Given the description of an element on the screen output the (x, y) to click on. 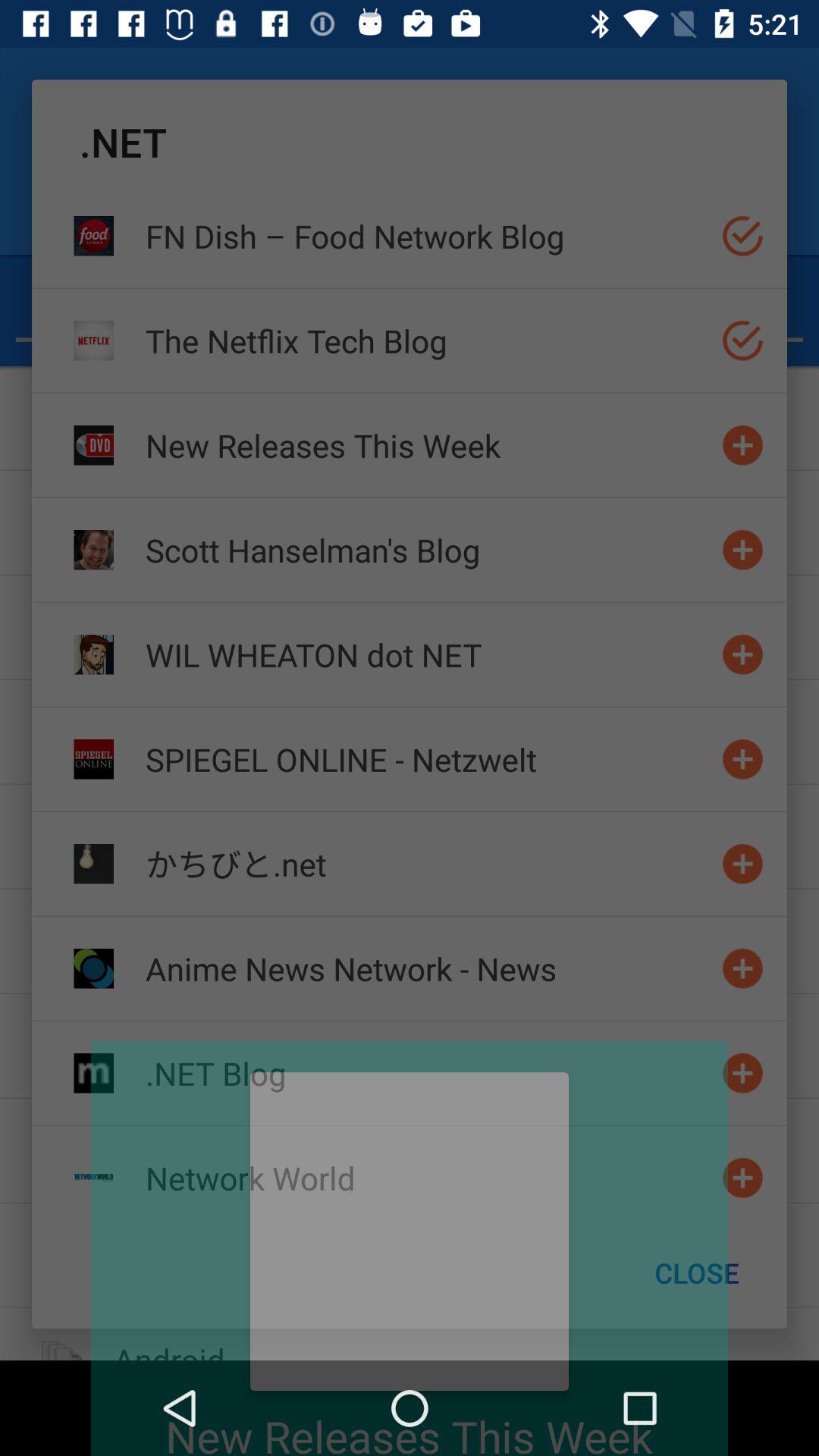
add to the list (742, 968)
